Given the description of an element on the screen output the (x, y) to click on. 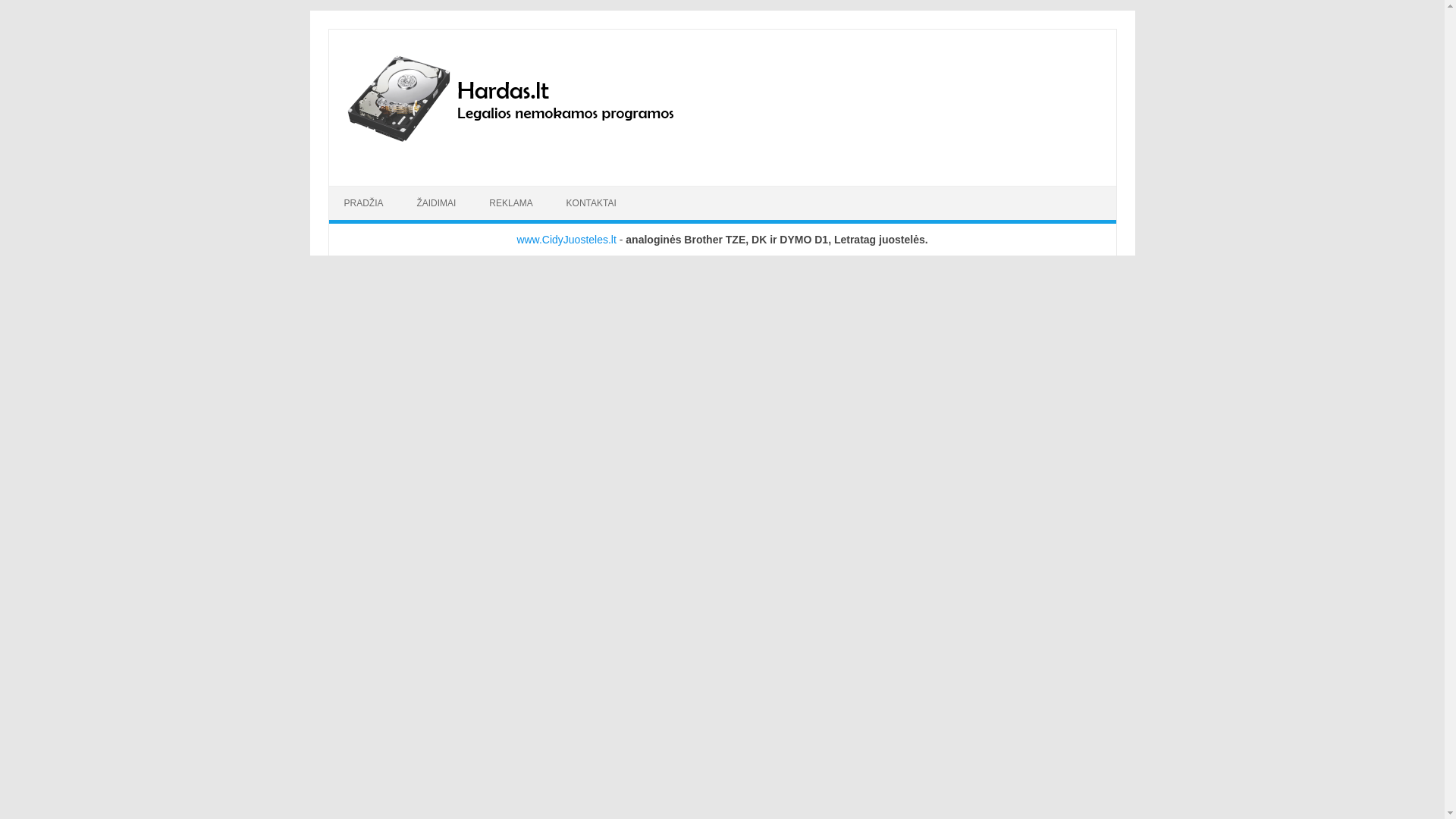
Hardas.lt (530, 159)
REKLAMA (510, 203)
Pereiti prie turinio (370, 190)
Pereiti prie turinio (370, 190)
www.CidyJuosteles.lt (565, 239)
KONTAKTAI (591, 203)
